Given the description of an element on the screen output the (x, y) to click on. 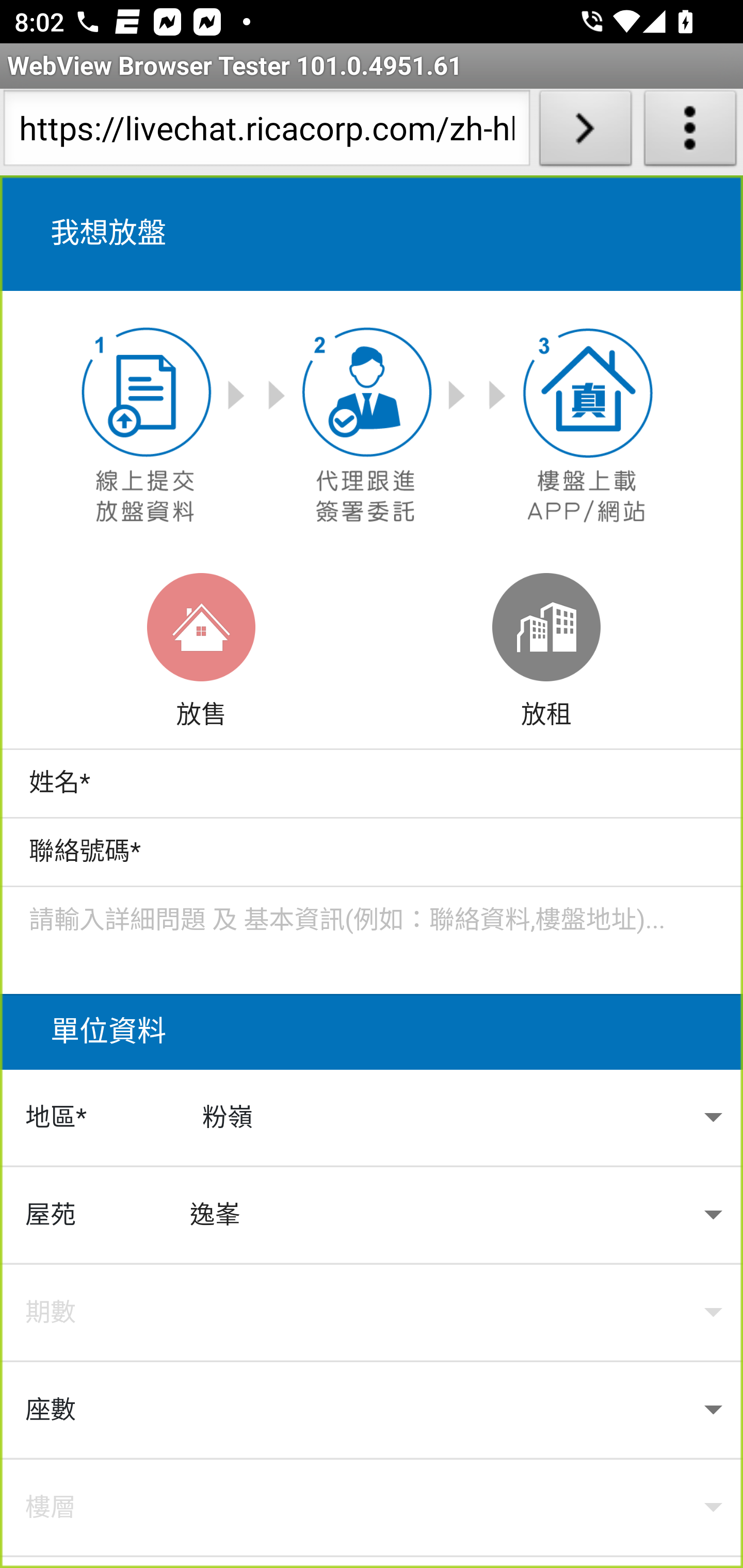
Load URL (585, 132)
About WebView (690, 132)
放售 (201, 653)
放租 (546, 653)
地區* 粉嶺 (371, 1118)
